Given the description of an element on the screen output the (x, y) to click on. 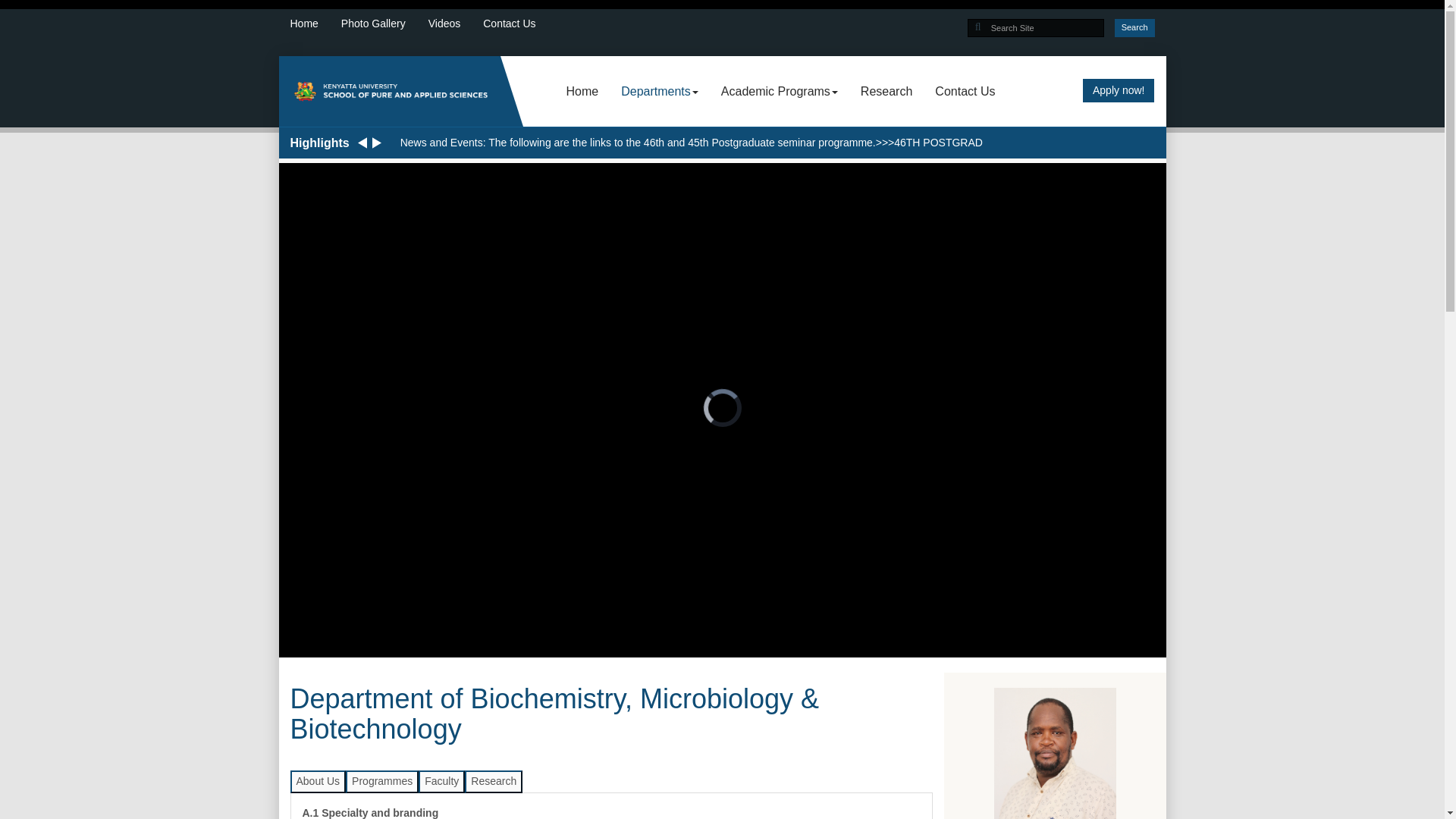
Contact Us (520, 24)
Search (1134, 27)
Home (582, 90)
Research (885, 90)
Photo Gallery (384, 24)
Videos (455, 24)
Contact Us (964, 90)
Apply now! (1118, 90)
Home (314, 24)
School of Law, Arts and Social Sciences (389, 91)
